Given the description of an element on the screen output the (x, y) to click on. 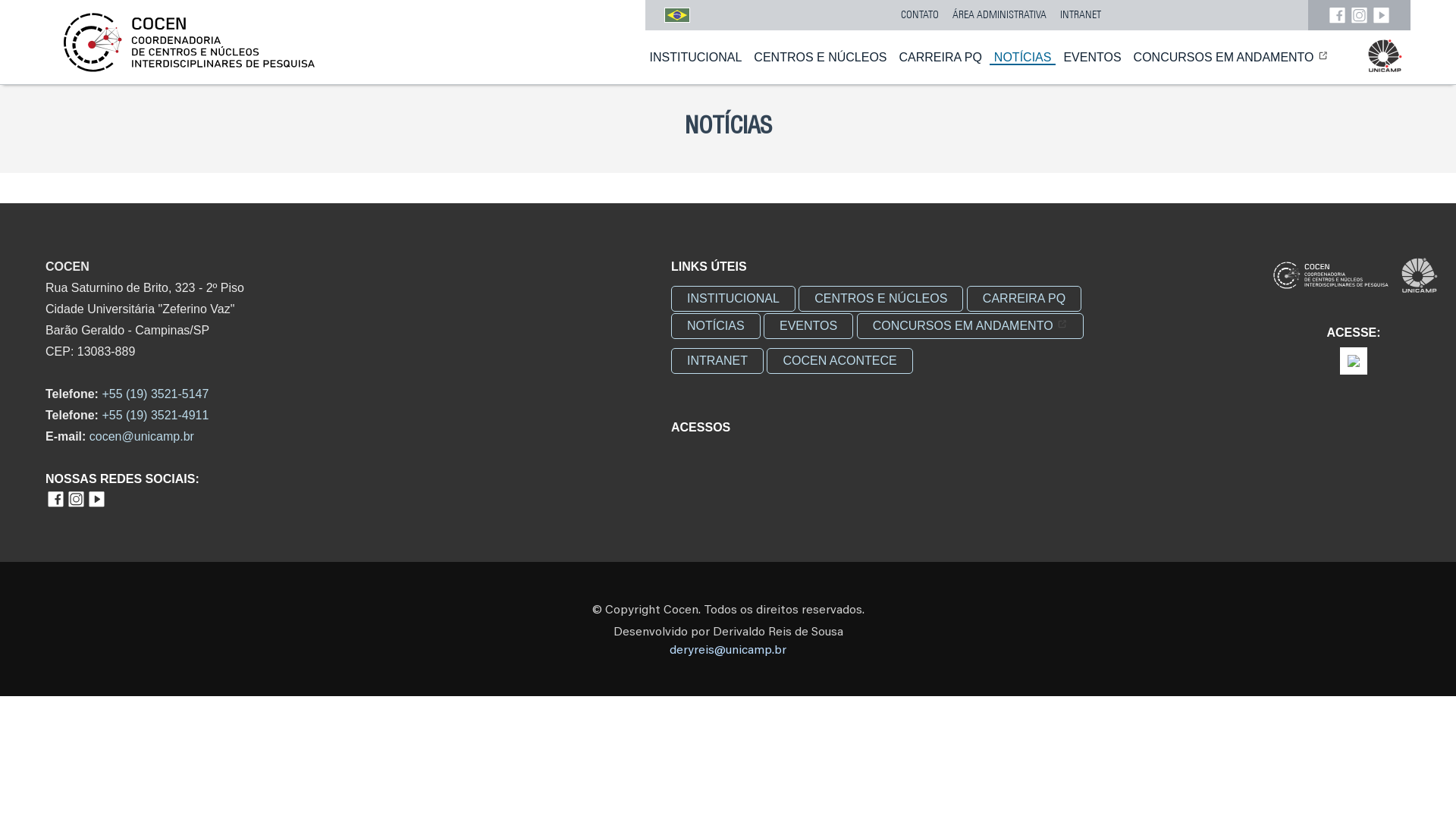
Cocen Element type: hover (1330, 278)
CARREIRA PQ Element type: text (1023, 298)
Facebook Element type: hover (1337, 15)
INSTITUCIONAL Element type: text (695, 55)
Unicamp Element type: hover (1419, 278)
cocen@unicamp.br Element type: text (141, 435)
INSTITUCIONAL Element type: text (733, 298)
INTRANET Element type: text (717, 360)
CONCURSOS EM ANDAMENTO Element type: text (1231, 55)
+55 (19) 3521-5147 Element type: text (154, 393)
COCEN ACONTECE Element type: text (839, 360)
EVENTOS Element type: text (808, 325)
EVENTOS Element type: text (1091, 55)
Youtube Element type: hover (96, 504)
deryreis@unicamp.br Element type: text (727, 650)
CARREIRA PQ Element type: text (940, 55)
Unicamp Element type: hover (1384, 69)
+55 (19) 3521-4911 Element type: text (154, 414)
Instagram Element type: hover (1359, 15)
Facebook Element type: hover (55, 504)
Youtube Element type: hover (1381, 15)
CONCURSOS EM ANDAMENTO Element type: text (969, 325)
Instagram Element type: hover (75, 504)
CONTATO Element type: text (919, 14)
INTRANET Element type: text (1080, 14)
